Given the description of an element on the screen output the (x, y) to click on. 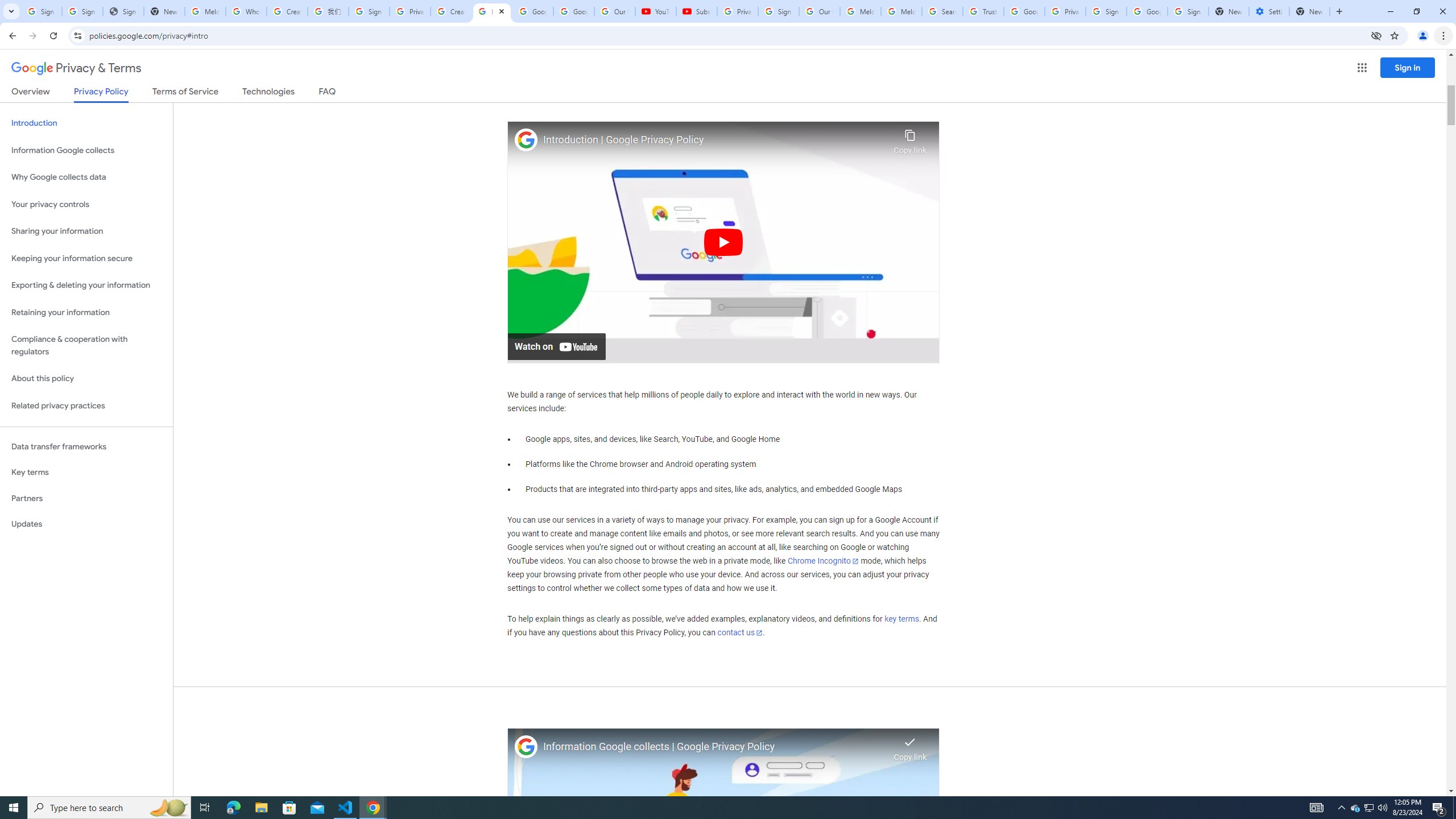
Compliance & cooperation with regulators (86, 345)
Link copied to clipboard (909, 745)
Sign in - Google Accounts (81, 11)
Settings - Addresses and more (1268, 11)
Introduction | Google Privacy Policy (715, 139)
Play (723, 241)
Trusted Information and Content - Google Safety Center (983, 11)
Create your Google Account (287, 11)
